Given the description of an element on the screen output the (x, y) to click on. 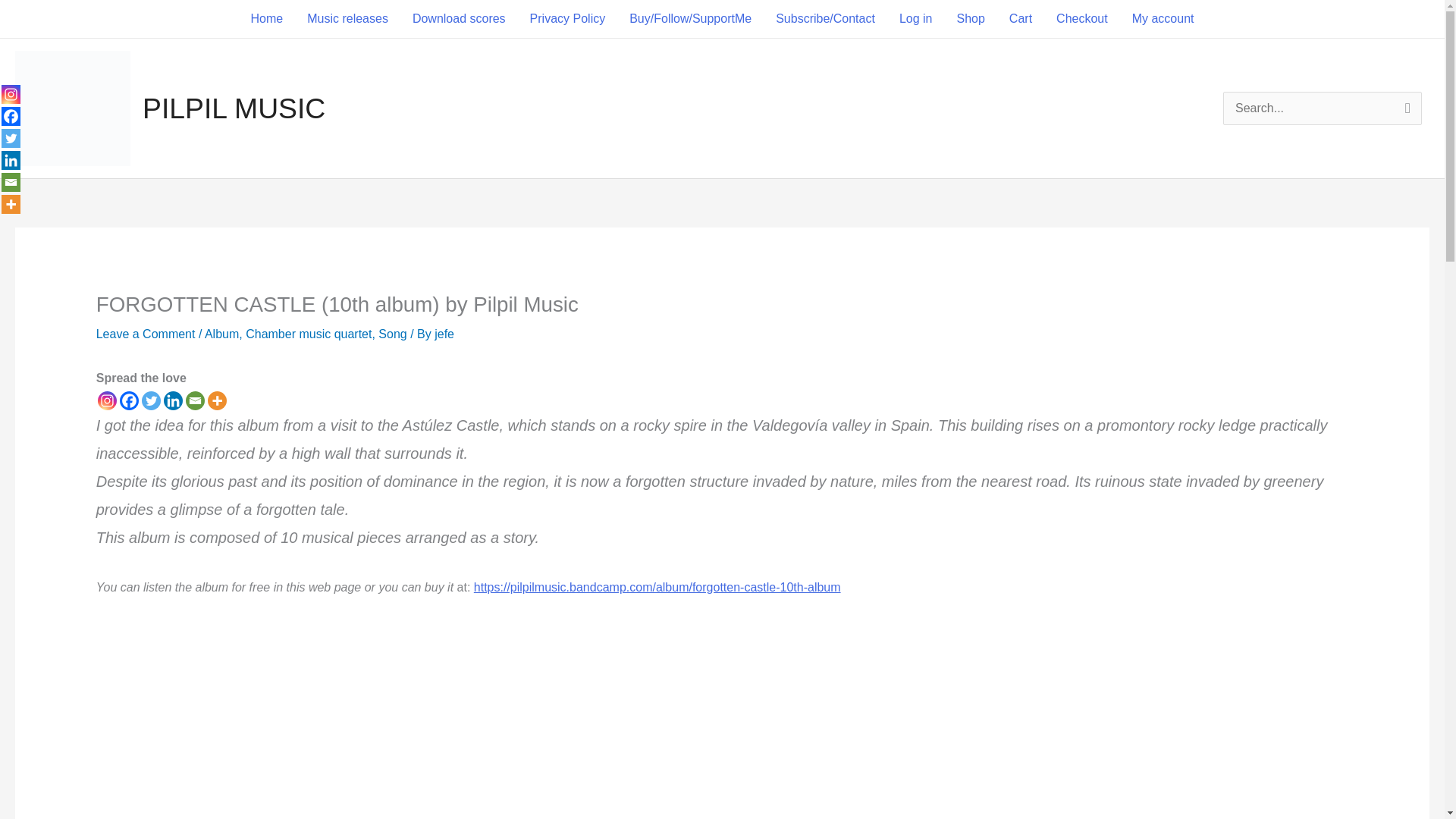
Download scores (459, 18)
Linkedin (173, 400)
Twitter (150, 400)
Linkedin (10, 159)
Home (266, 18)
Facebook (128, 400)
Shop (969, 18)
Checkout (1081, 18)
Email (10, 181)
View all posts by jefe (443, 333)
